Given the description of an element on the screen output the (x, y) to click on. 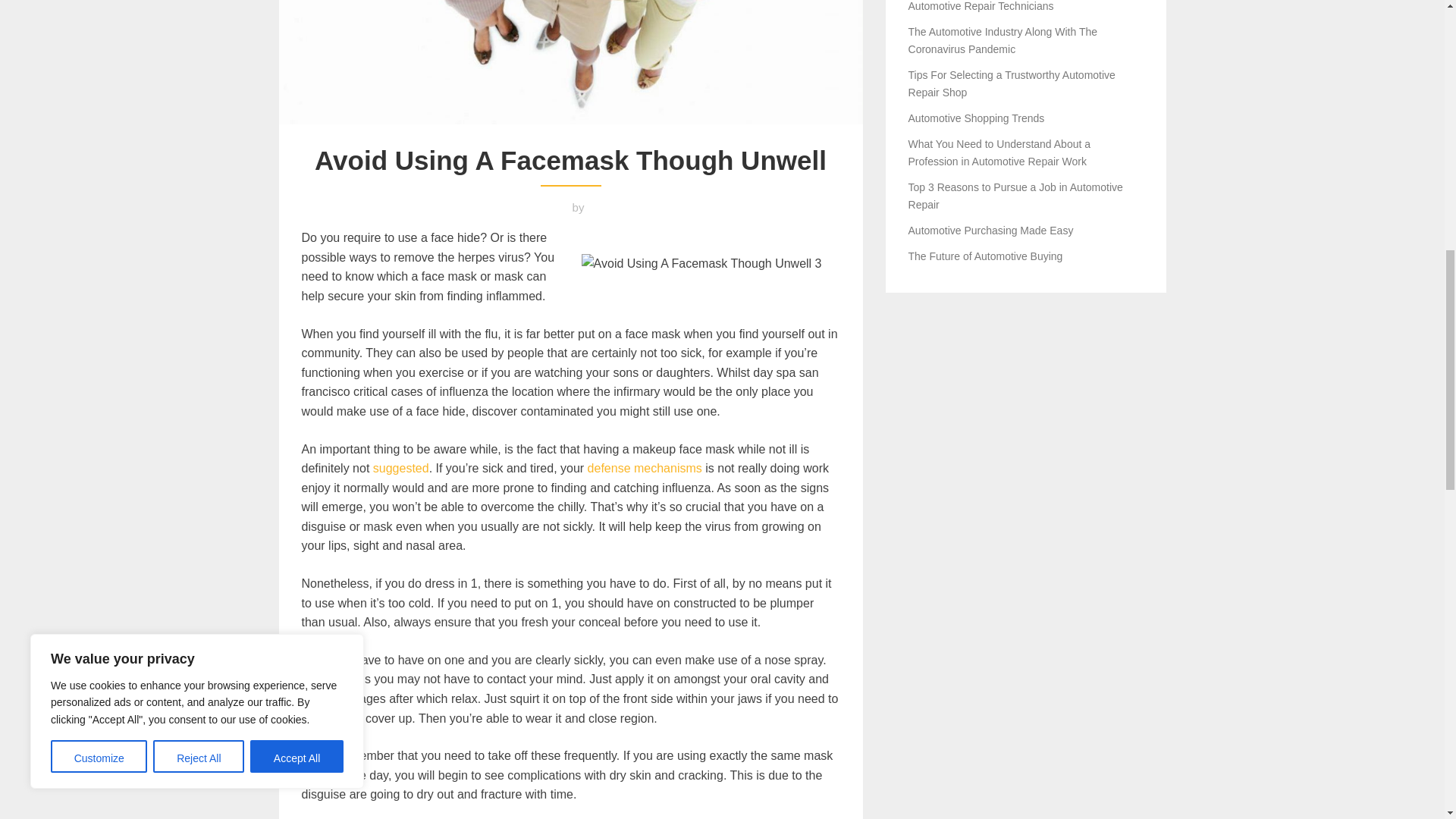
defense mechanisms (644, 468)
Tips For Selecting a Trustworthy Automotive Repair Shop (1011, 82)
The Automotive Industry Along With The Coronavirus Pandemic (1002, 39)
suggested (400, 468)
Automotive Repair Technicians (981, 6)
